Given the description of an element on the screen output the (x, y) to click on. 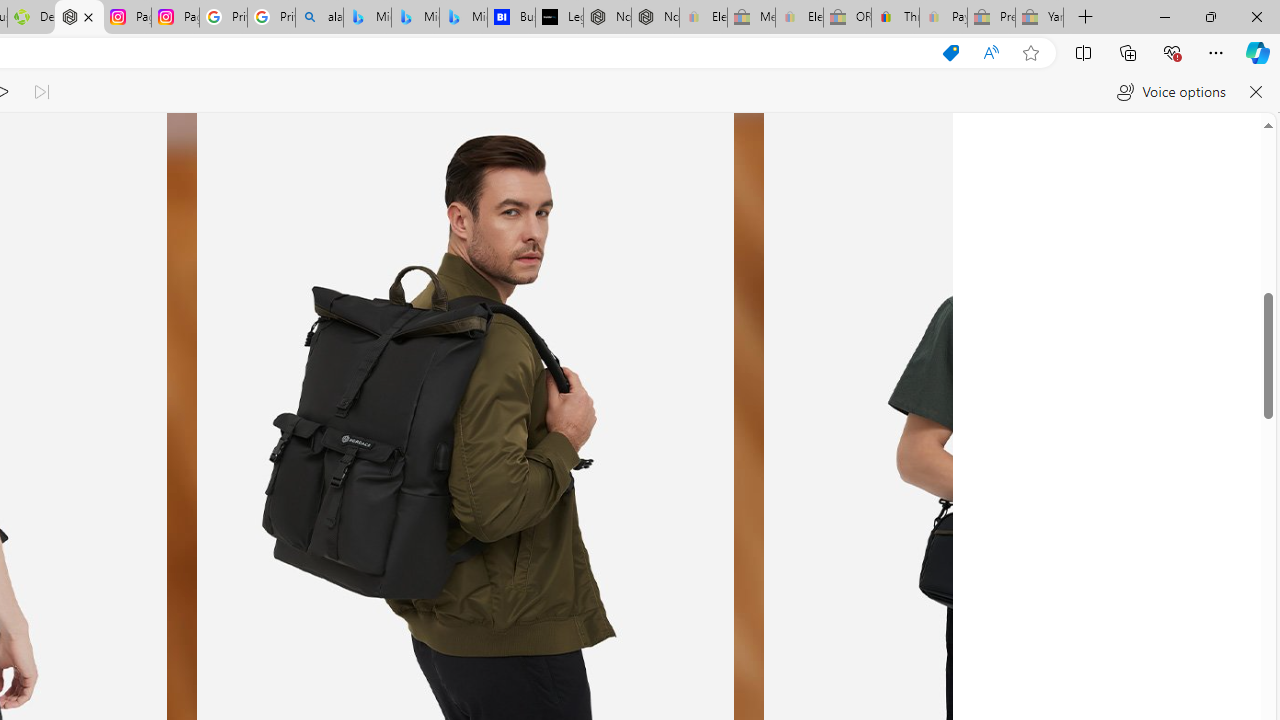
Collections (1128, 52)
Microsoft Bing Travel - Flights from Hong Kong to Bangkok (367, 17)
alabama high school quarterback dies - Search (319, 17)
Copilot (Ctrl+Shift+.) (1258, 52)
Close (1256, 16)
Press Room - eBay Inc. - Sleeping (991, 17)
Class: flickity-button-icon (868, 436)
Close read aloud (1255, 92)
Outlook (1258, 174)
This site has coupons! Shopping in Microsoft Edge (950, 53)
Threats and offensive language policy | eBay (895, 17)
Settings and more (Alt+F) (1215, 52)
Payments Terms of Use | eBay.com - Sleeping (943, 17)
Split screen (1083, 52)
